Given the description of an element on the screen output the (x, y) to click on. 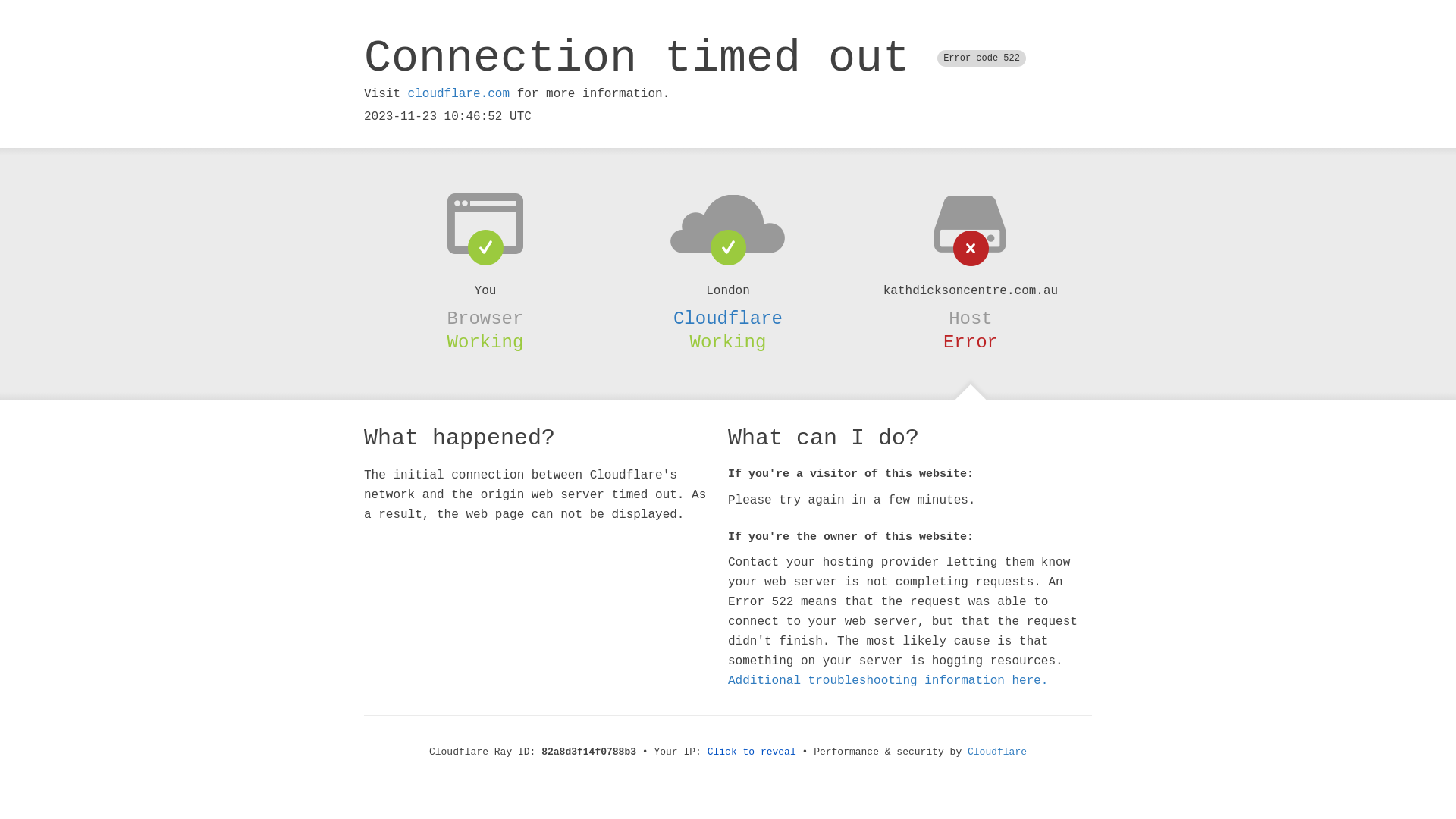
Cloudflare Element type: text (996, 751)
Additional troubleshooting information here. Element type: text (888, 680)
cloudflare.com Element type: text (458, 93)
Click to reveal Element type: text (751, 751)
Cloudflare Element type: text (727, 318)
